Given the description of an element on the screen output the (x, y) to click on. 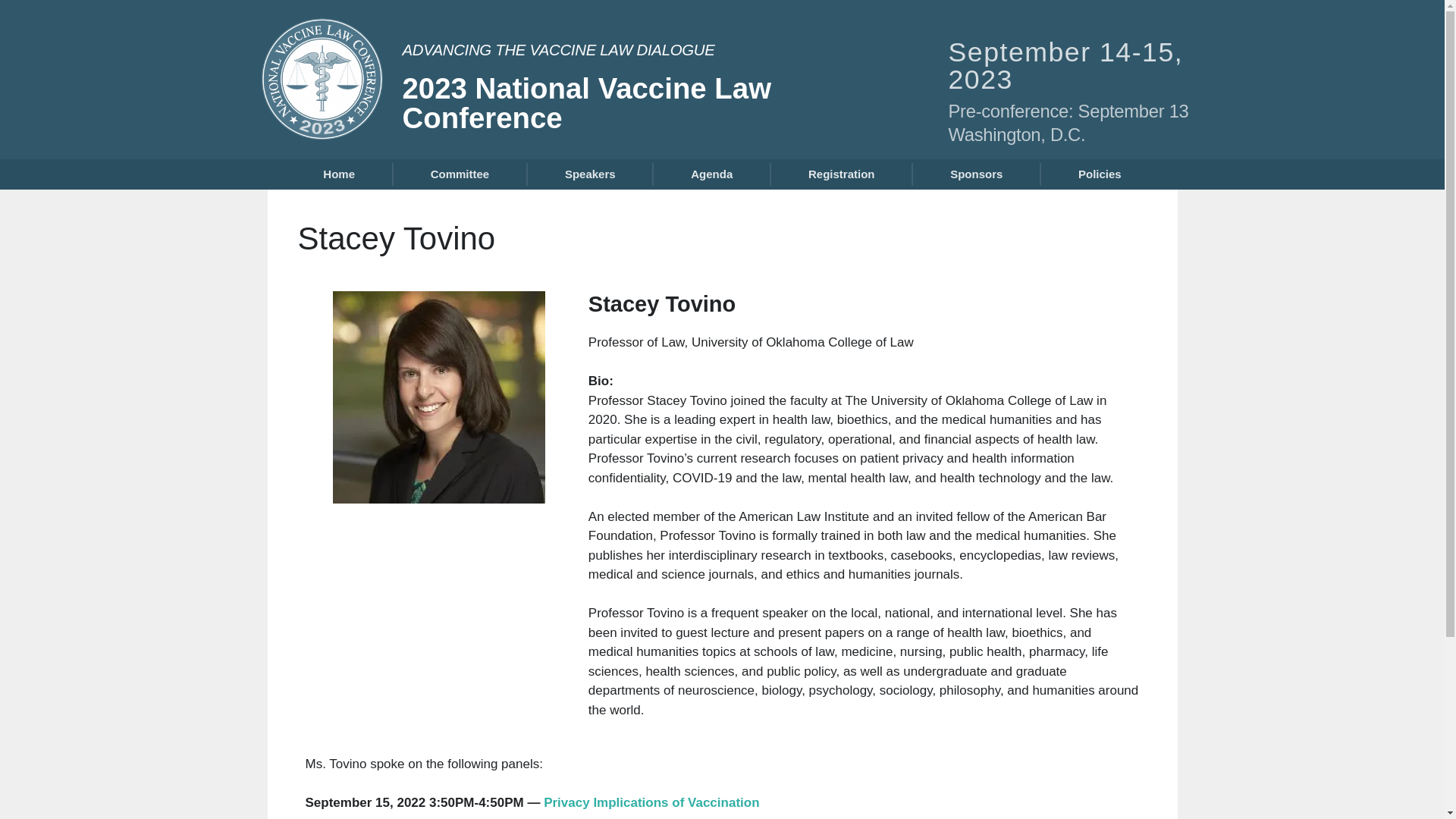
2023 National Vaccine Law Conference (586, 102)
Sponsors (975, 173)
Registration (841, 173)
Committee (459, 173)
September 14-15, 2023 (1064, 65)
Speakers (590, 173)
Agenda (711, 173)
Privacy Implications of Vaccination (650, 802)
Home (338, 173)
Policies (1098, 173)
